Given the description of an element on the screen output the (x, y) to click on. 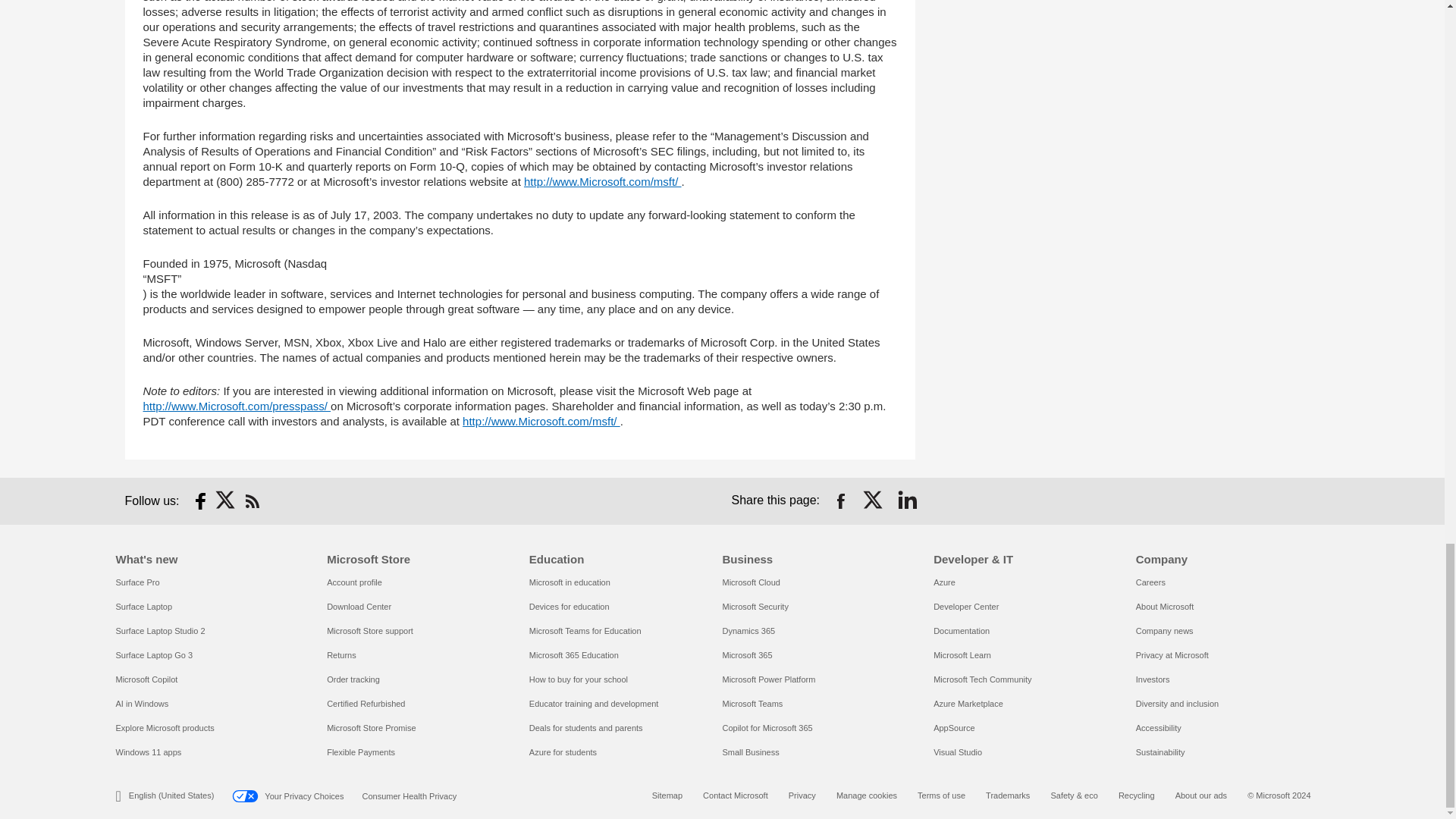
Follow on Twitter (226, 500)
RSS Subscription (252, 500)
Share on Facebook (840, 500)
Follow on Facebook (200, 500)
Share on LinkedIn (907, 500)
Share on Twitter (873, 500)
